Given the description of an element on the screen output the (x, y) to click on. 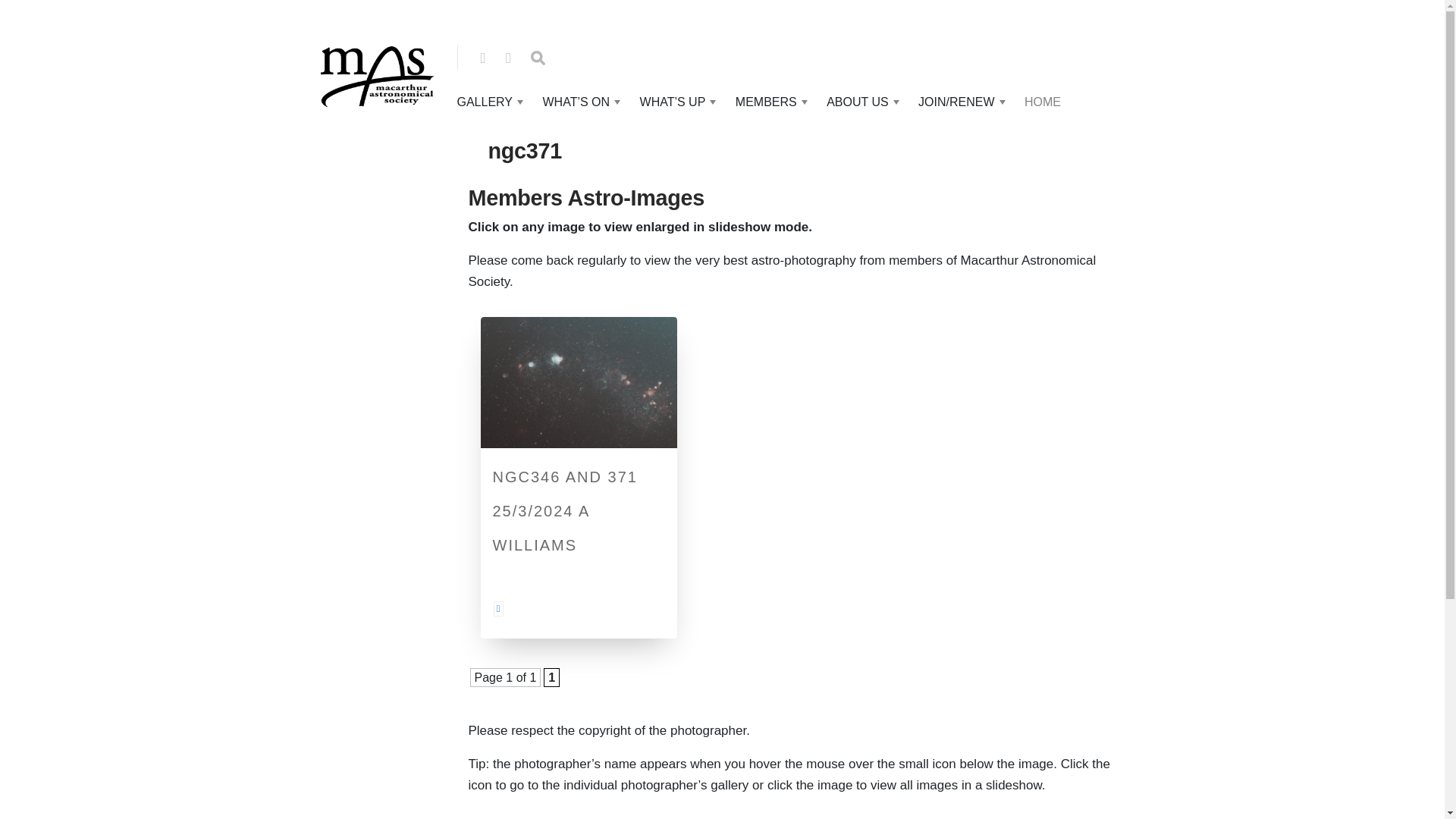
allen-williams (497, 607)
